Given the description of an element on the screen output the (x, y) to click on. 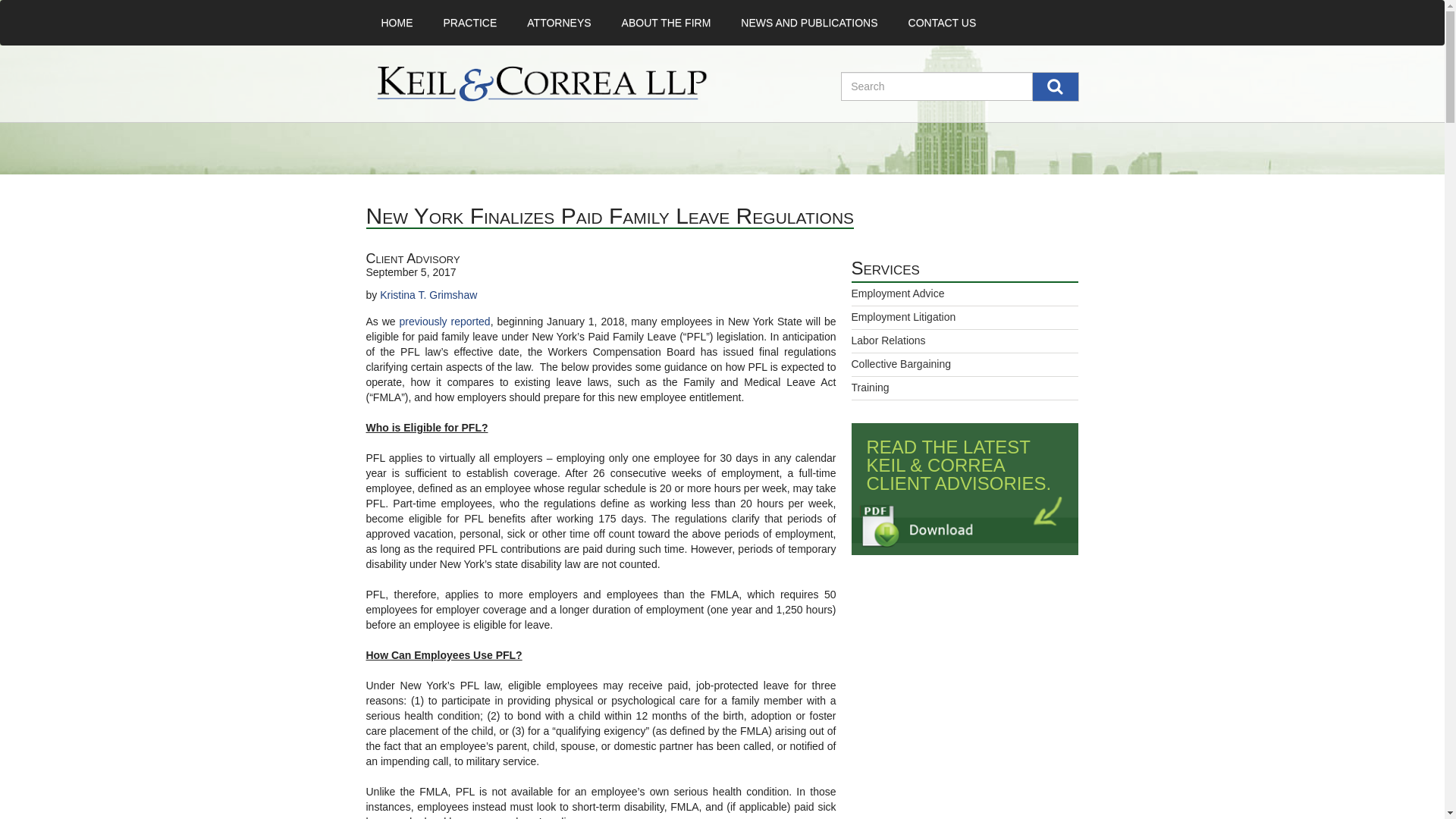
CONTACT US (942, 22)
ATTORNEYS (558, 22)
previously reported (444, 321)
Kristina T. Grimshaw (428, 295)
ABOUT THE FIRM (666, 22)
Employment Advice (896, 293)
Training (869, 387)
Labor Relations (887, 340)
NEWS AND PUBLICATIONS (808, 22)
Employment Litigation (902, 316)
